Given the description of an element on the screen output the (x, y) to click on. 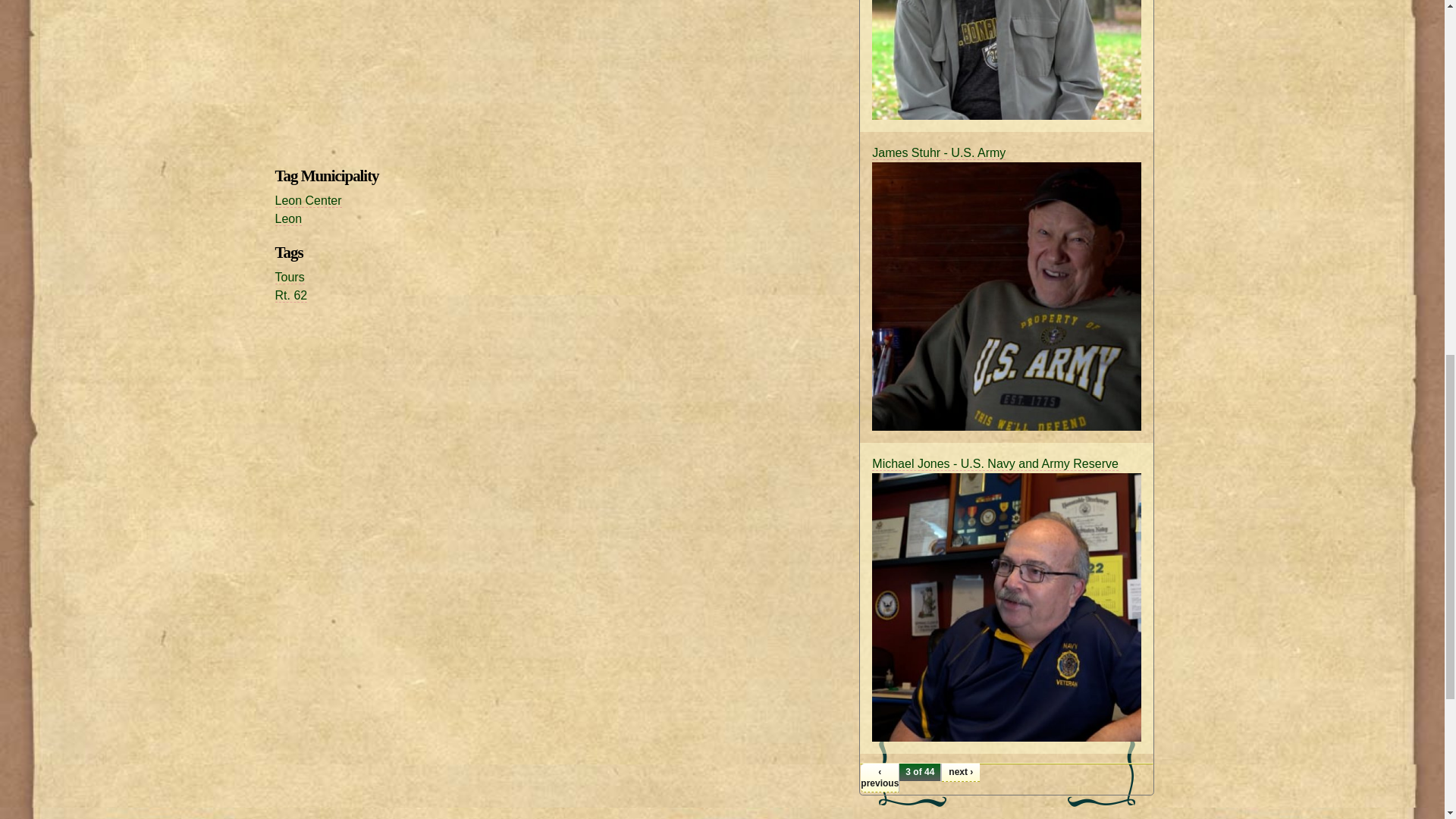
Michael Jones - U.S. Navy and Army Reserve (995, 463)
Go to next page (960, 772)
James Stuhr - U.S. Army (939, 151)
Leon (288, 219)
Leon Center (307, 201)
Rt. 62 (291, 295)
Tours (289, 277)
Go to previous page (879, 777)
